Given the description of an element on the screen output the (x, y) to click on. 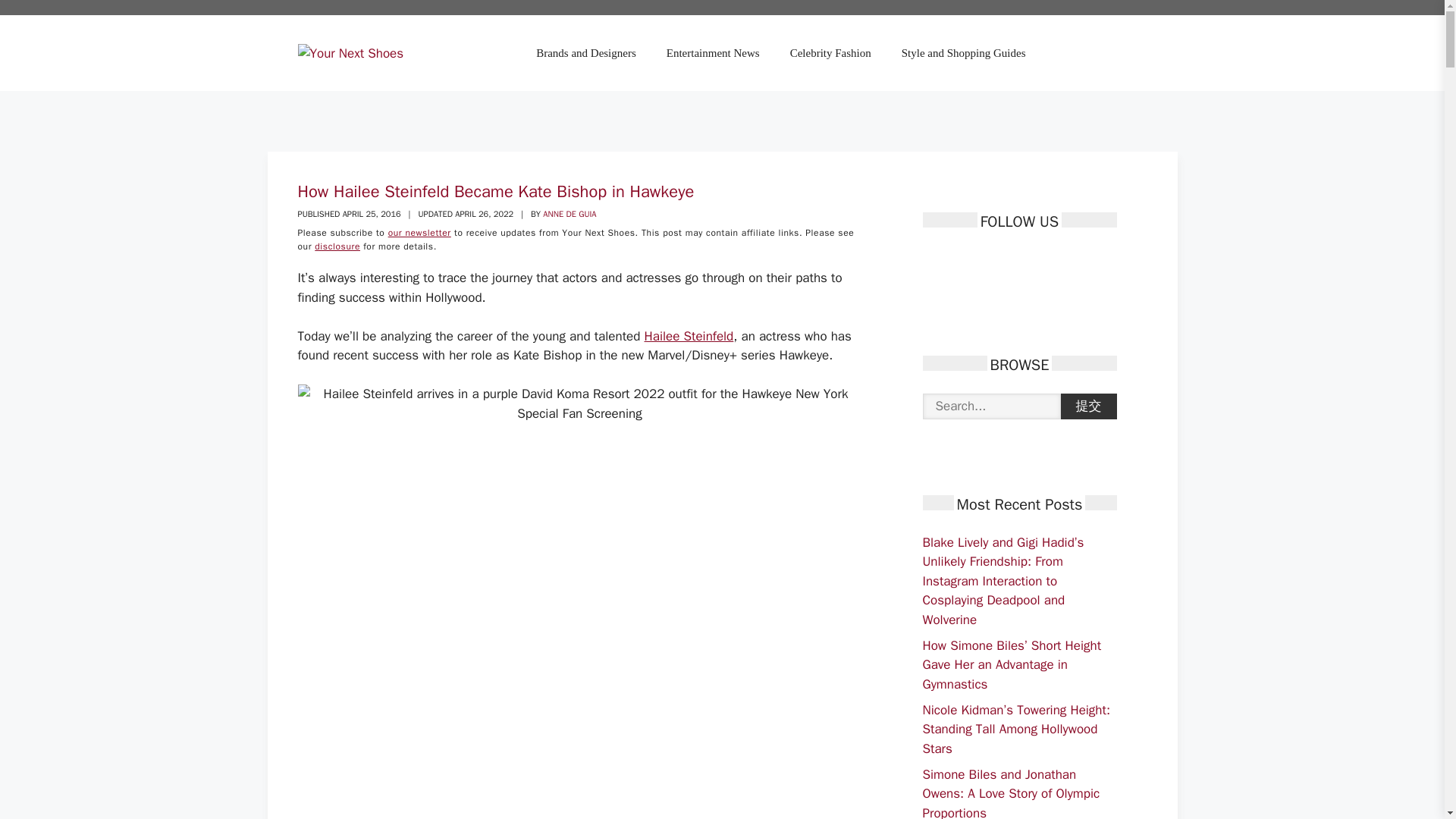
Twitter (960, 261)
Style and Shopping Guides (963, 53)
Instagram (1014, 261)
Brands and Designers (585, 53)
Hailee Steinfeld (689, 335)
our newsletter (419, 232)
Celebrity Fashion (830, 53)
disclosure (336, 246)
Facebook (932, 261)
ANNE DE GUIA (569, 213)
Entertainment News (712, 53)
Pinterest (986, 261)
